Given the description of an element on the screen output the (x, y) to click on. 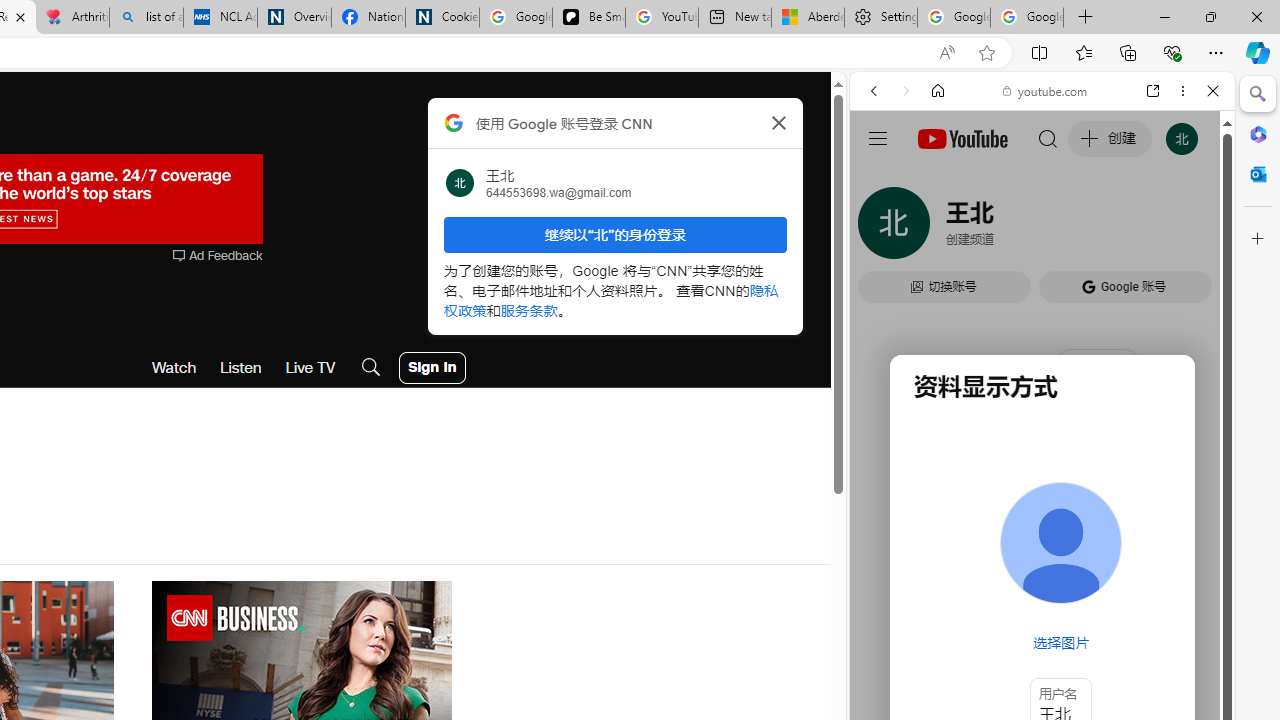
Google (1042, 494)
Music (1042, 543)
SEARCH TOOLS (1093, 228)
User Account Log In Button (432, 367)
Search the web (1051, 137)
Music (1042, 543)
Show More Music (1164, 546)
